Given the description of an element on the screen output the (x, y) to click on. 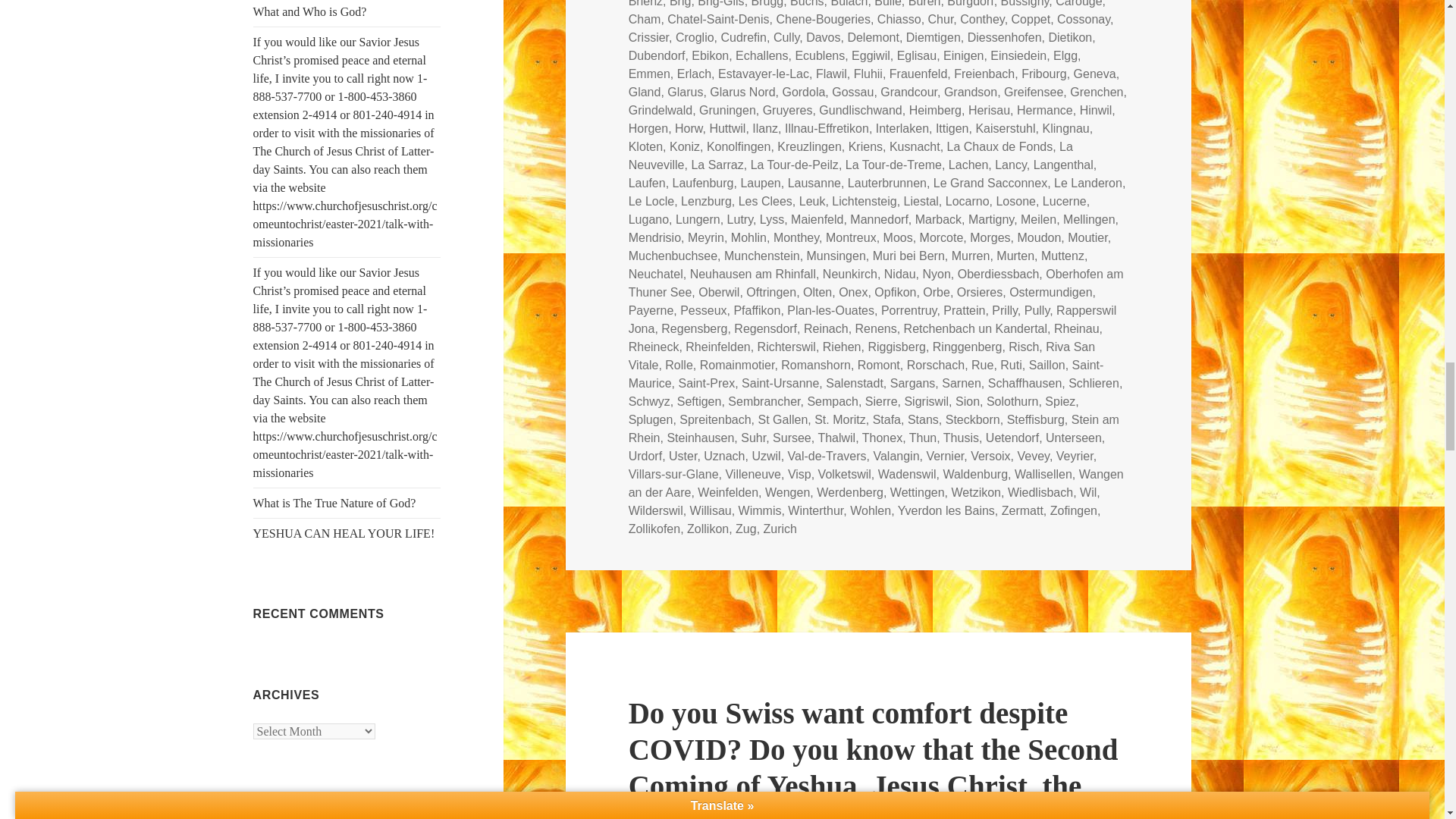
What and Who is God? (309, 11)
YESHUA CAN HEAL YOUR LIFE! (344, 533)
What is The True Nature of God? (334, 502)
